Given the description of an element on the screen output the (x, y) to click on. 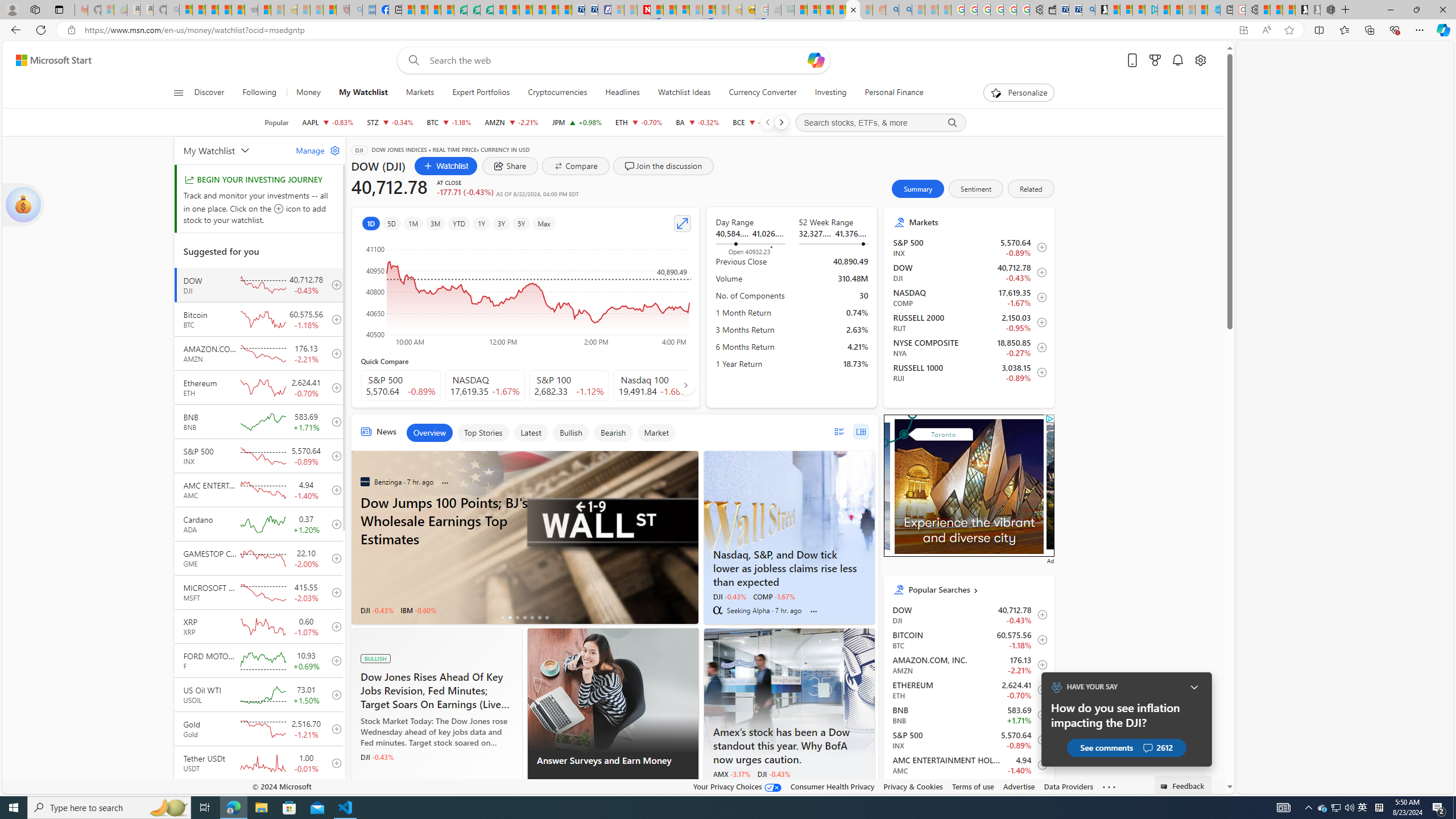
Currency Converter (762, 92)
BCE BCE Inc decrease 34.55 -0.07 -0.20% (755, 122)
AAPL APPLE INC. decrease 224.53 -1.87 -0.83% (328, 122)
Latest (530, 432)
AutomationID: brandLogo (964, 491)
Cryptocurrencies (557, 92)
